Given the description of an element on the screen output the (x, y) to click on. 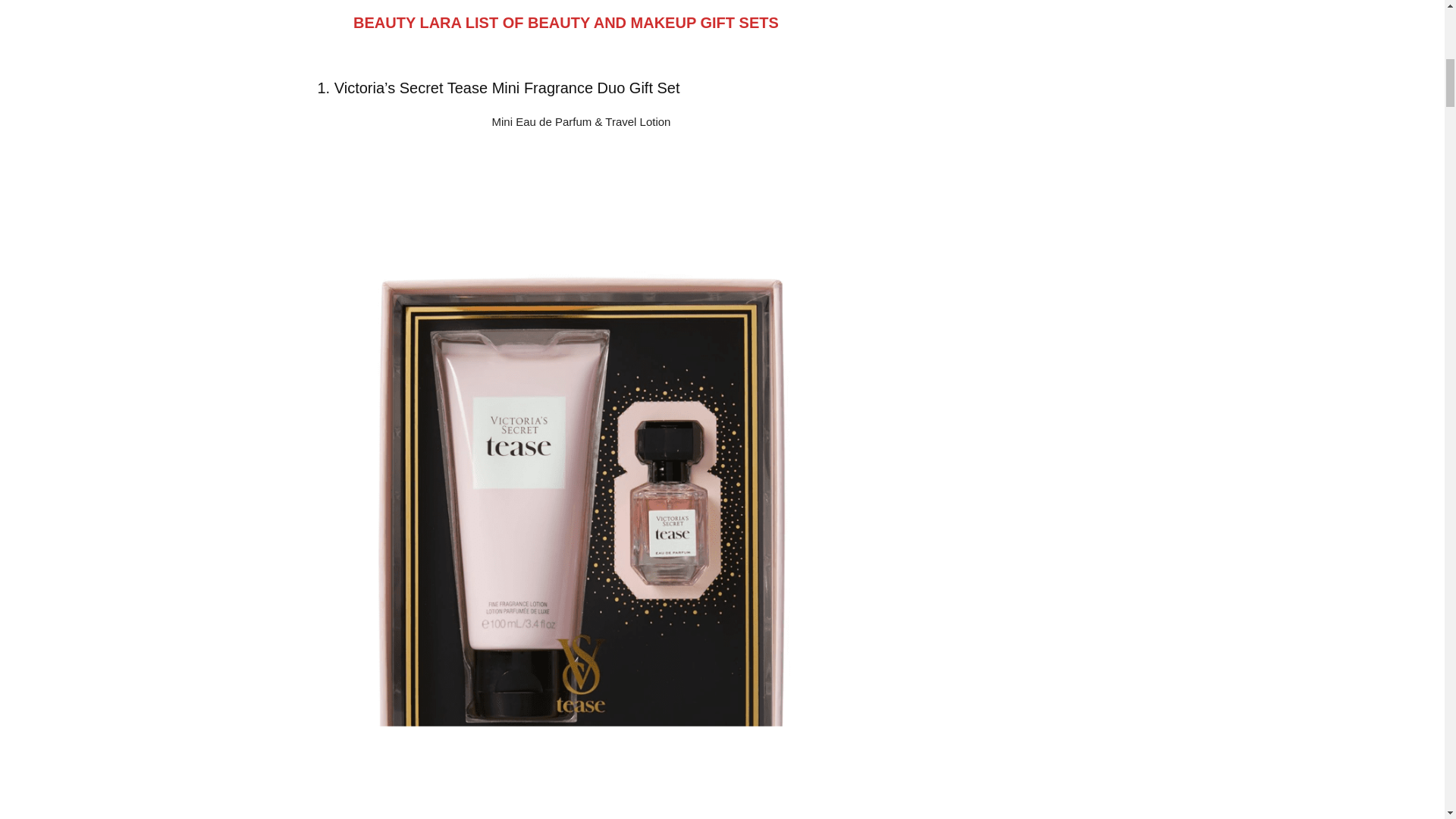
Duo Gift Set (637, 87)
Fragrance (560, 87)
BEAUTY LARA (407, 22)
